Given the description of an element on the screen output the (x, y) to click on. 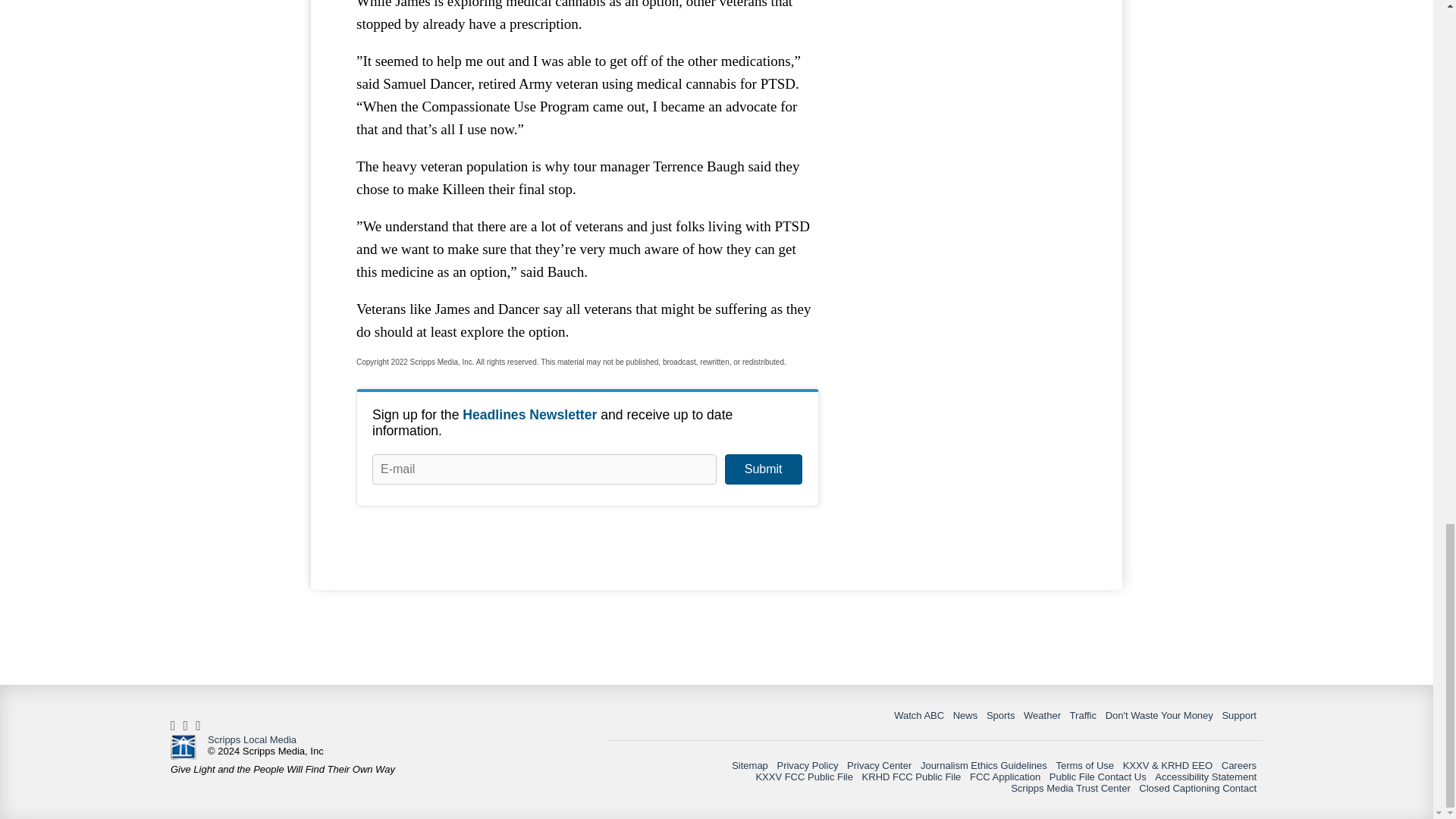
Submit (763, 469)
